Given the description of an element on the screen output the (x, y) to click on. 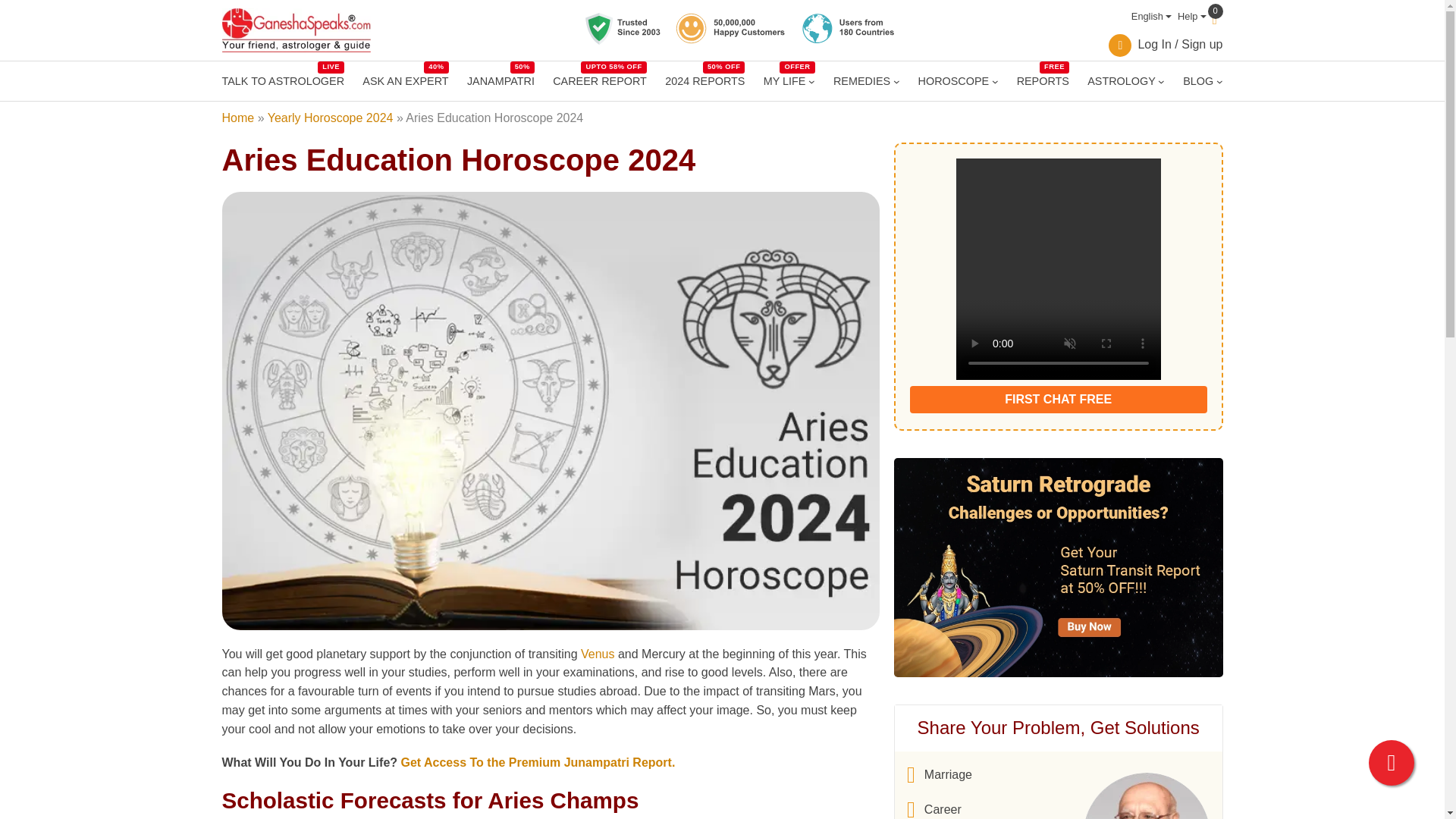
Career (784, 80)
Marriage (940, 808)
Help (940, 774)
English (1189, 16)
